Given the description of an element on the screen output the (x, y) to click on. 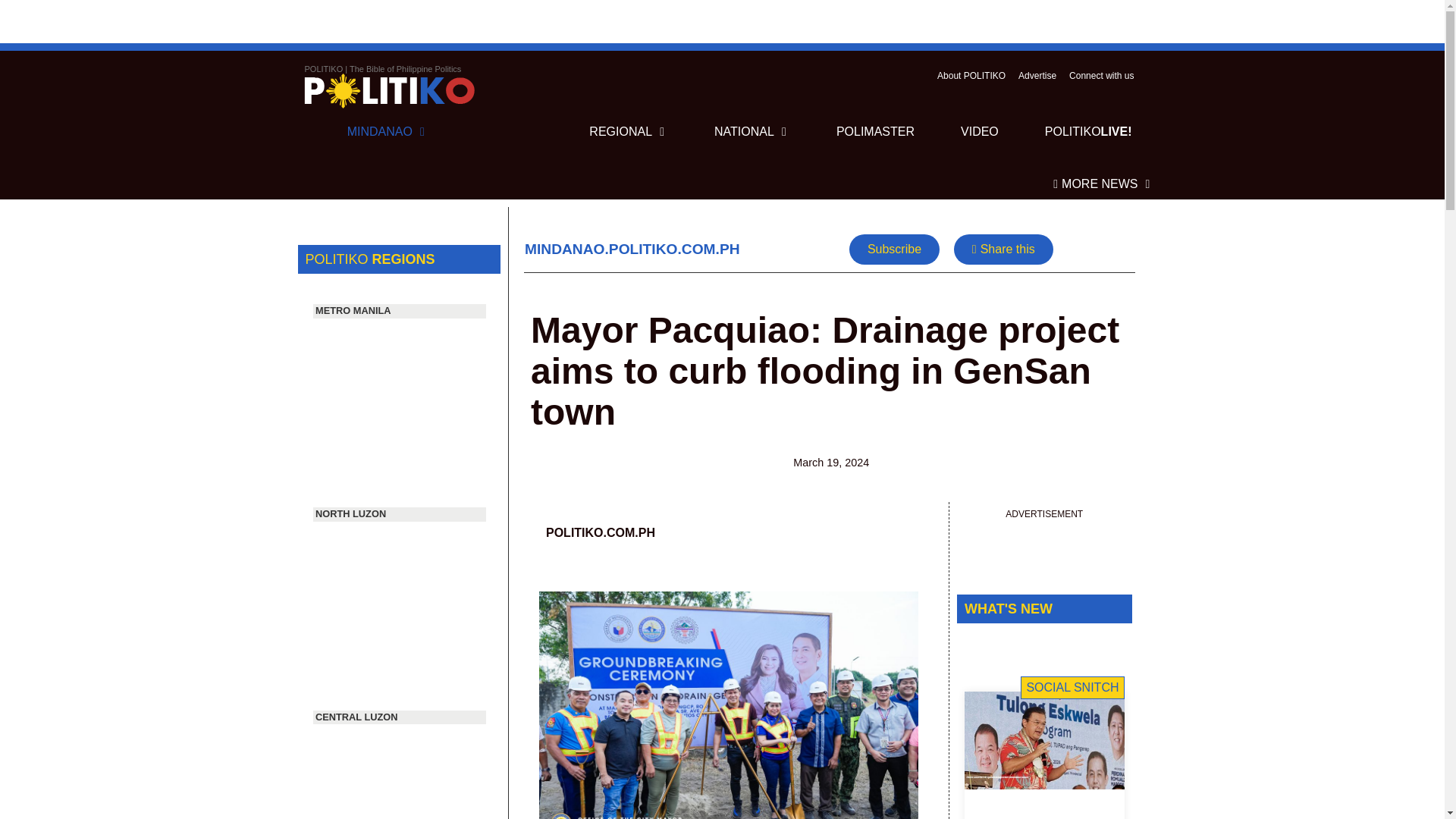
POLIMASTER (874, 131)
About POLITIKO (971, 75)
Connect with us (1101, 75)
Advertise (1037, 75)
VIDEO (1088, 131)
